Given the description of an element on the screen output the (x, y) to click on. 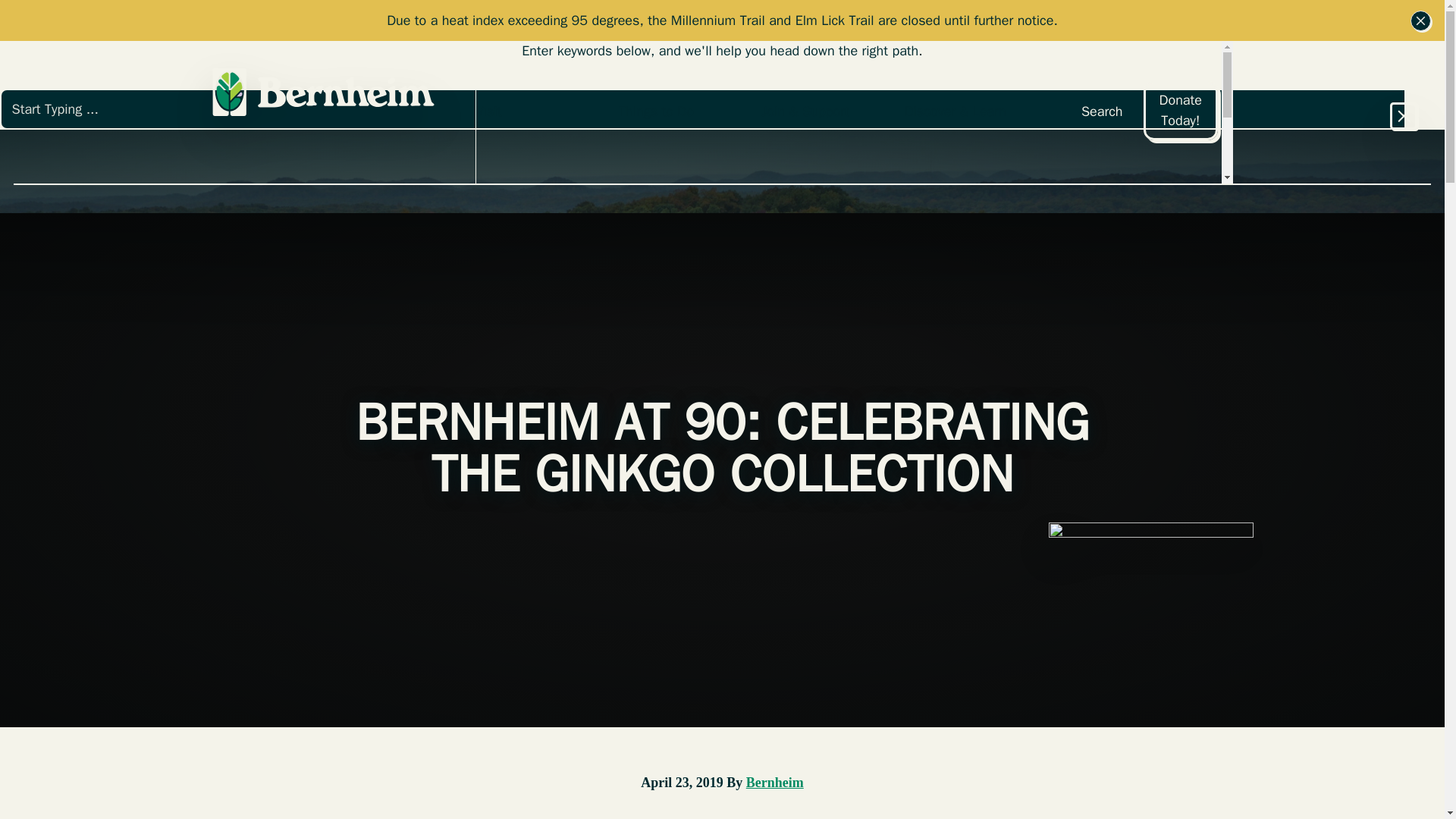
Donate Today! (1179, 109)
Visit (547, 111)
Bernheim (774, 782)
Things to Do (689, 111)
